Given the description of an element on the screen output the (x, y) to click on. 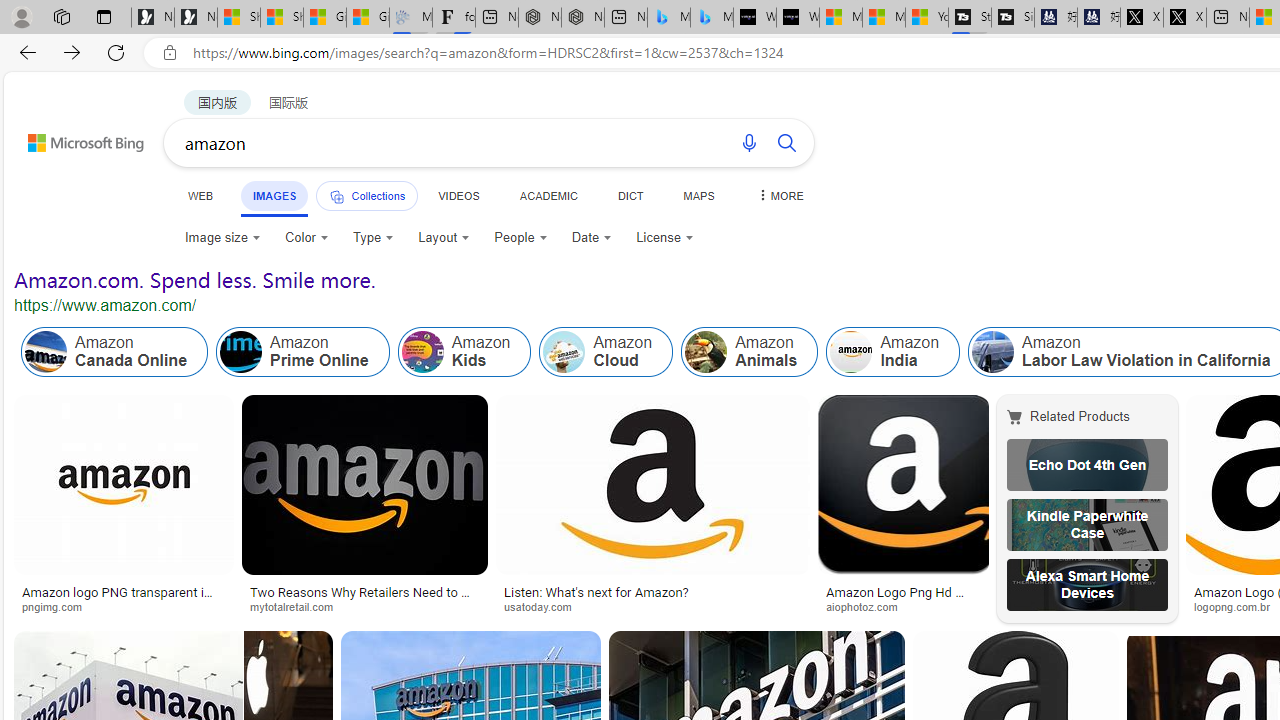
Back to Bing search (73, 138)
Amazon Prime Online (303, 351)
Amazon Animals (749, 351)
License (664, 237)
Amazon Cloud (564, 351)
Search using voice (748, 142)
Amazon Echo Dot 4th Gen (1087, 465)
mytotalretail.com (298, 605)
Forward (72, 52)
DICT (630, 195)
ACADEMIC (548, 195)
